Given the description of an element on the screen output the (x, y) to click on. 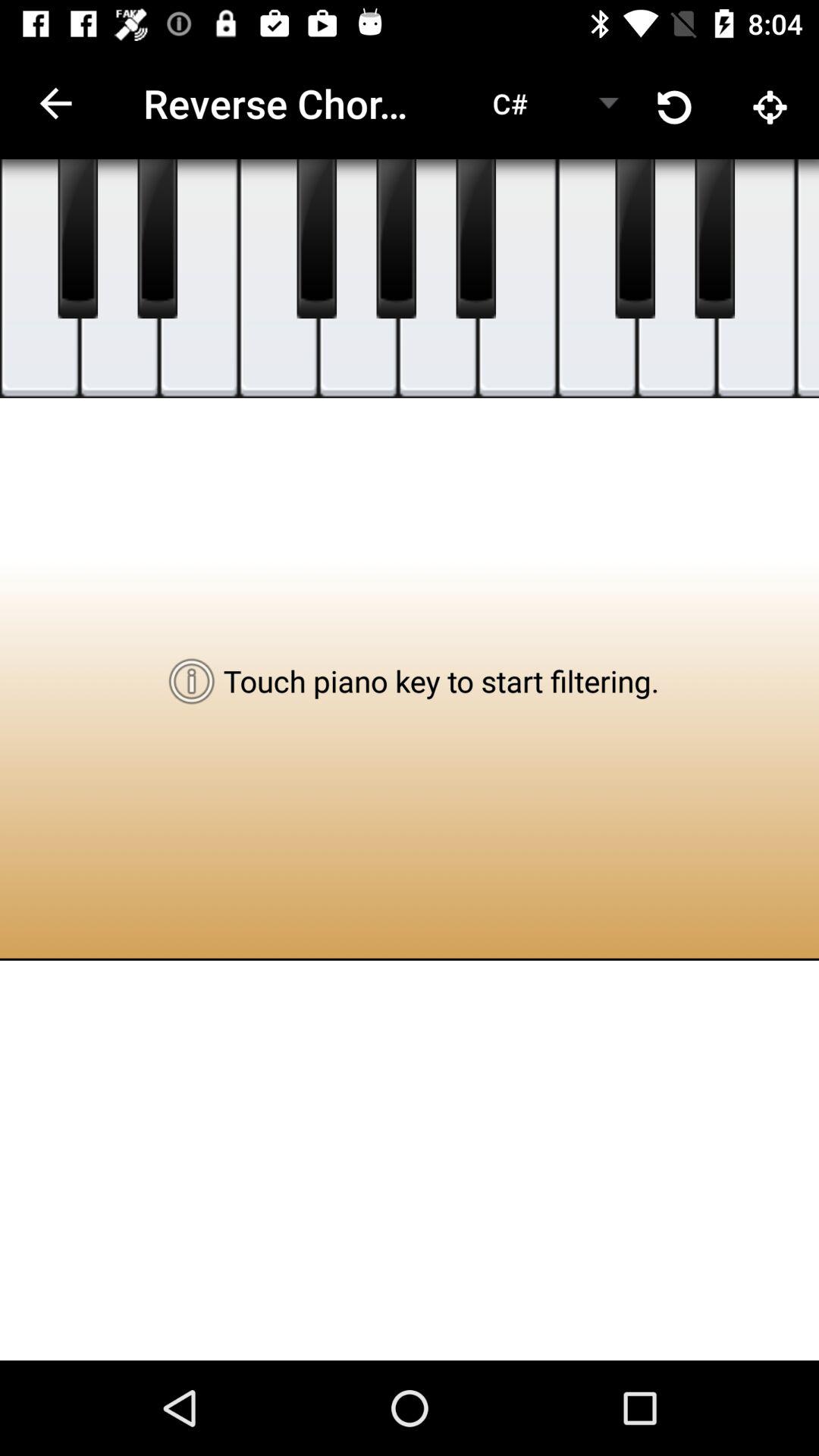
keybord enter (597, 278)
